Given the description of an element on the screen output the (x, y) to click on. 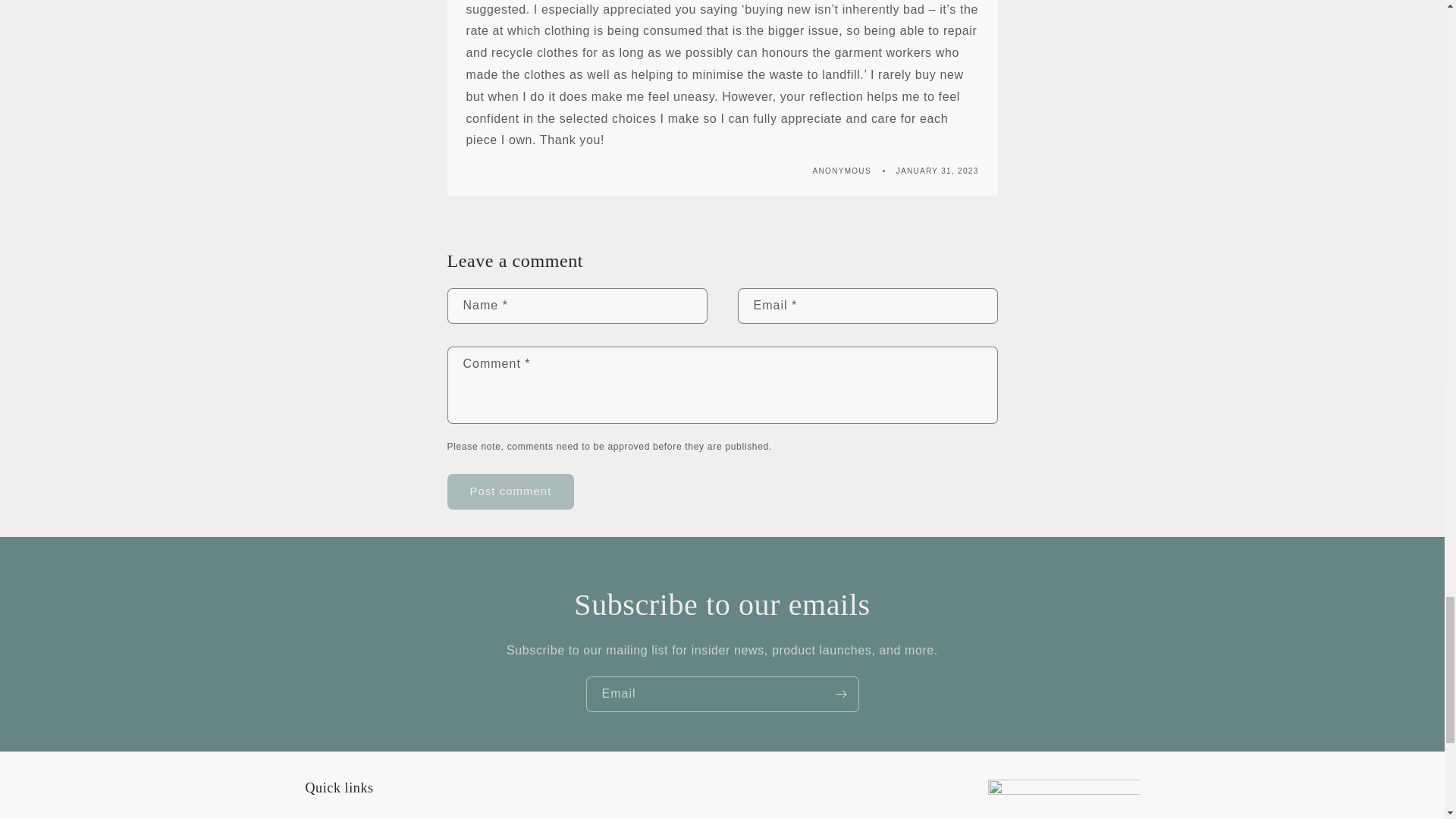
Post comment (510, 491)
Post comment (510, 491)
